Given the description of an element on the screen output the (x, y) to click on. 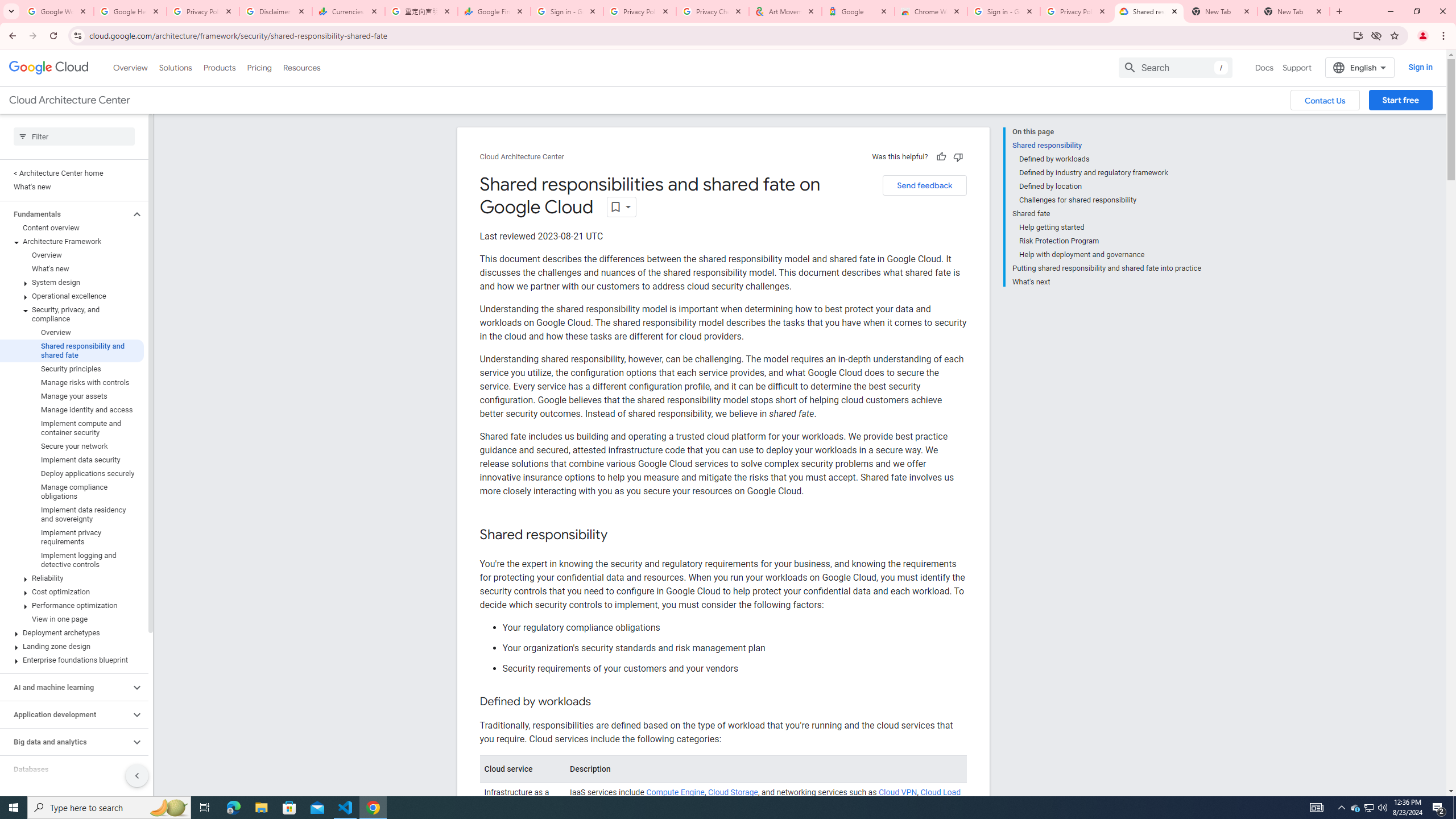
< Architecture Center home (72, 173)
Manage your assets (72, 395)
Defined by industry and regulatory framework (1110, 172)
Manage identity and access (72, 409)
Google Workspace Admin Community (57, 11)
Architecture Framework (72, 241)
Docs, selected (1264, 67)
Risk Protection Program (1110, 241)
Cloud Storage (732, 792)
